Given the description of an element on the screen output the (x, y) to click on. 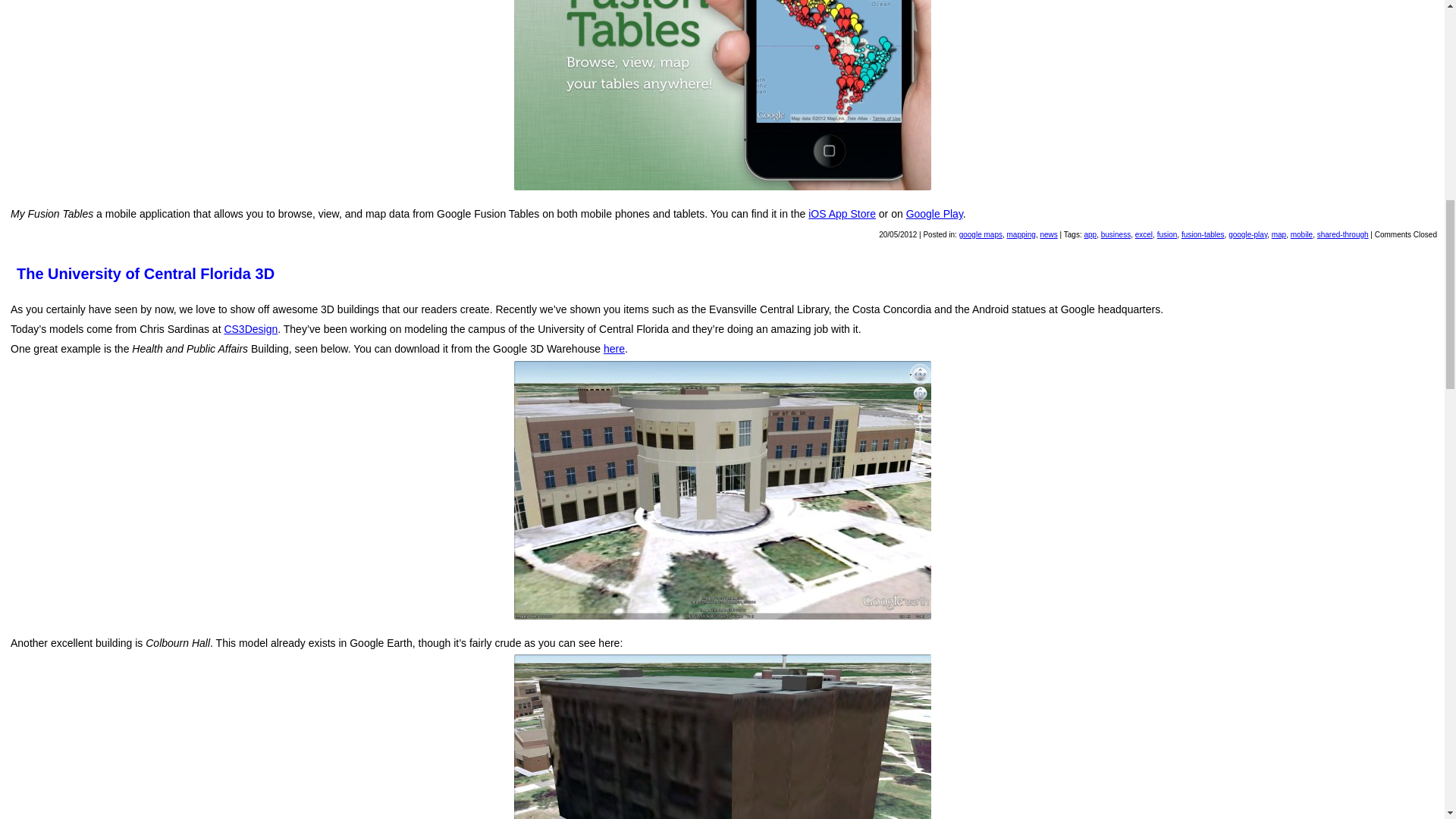
app (1089, 234)
iOS App Store (842, 214)
news (1048, 234)
mapping (1021, 234)
Google Play (933, 214)
google maps (981, 234)
